Given the description of an element on the screen output the (x, y) to click on. 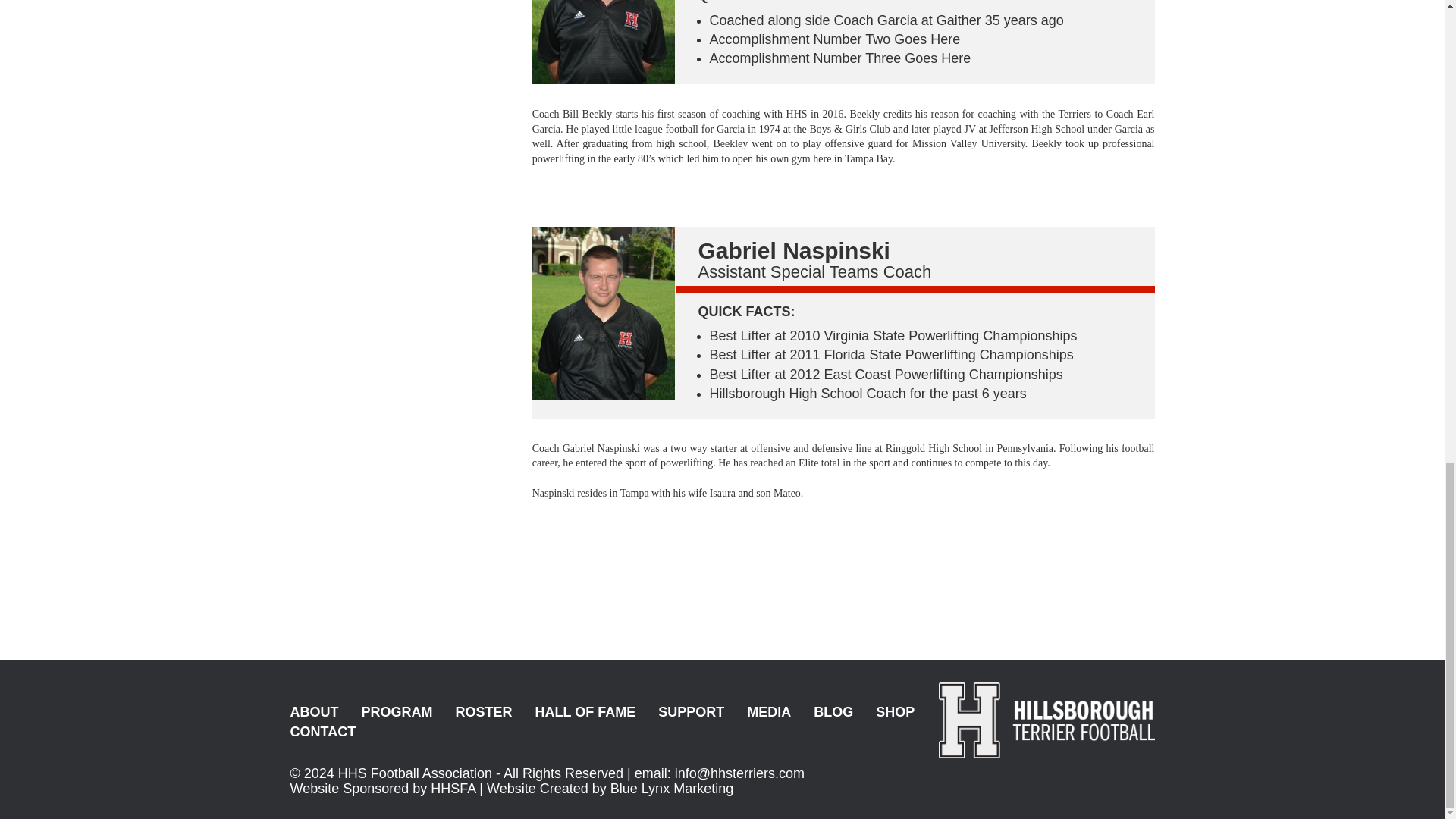
ROSTER (483, 712)
ABOUT (313, 712)
PROGRAM (396, 712)
HALL OF FAME (585, 712)
SUPPORT (690, 712)
